Given the description of an element on the screen output the (x, y) to click on. 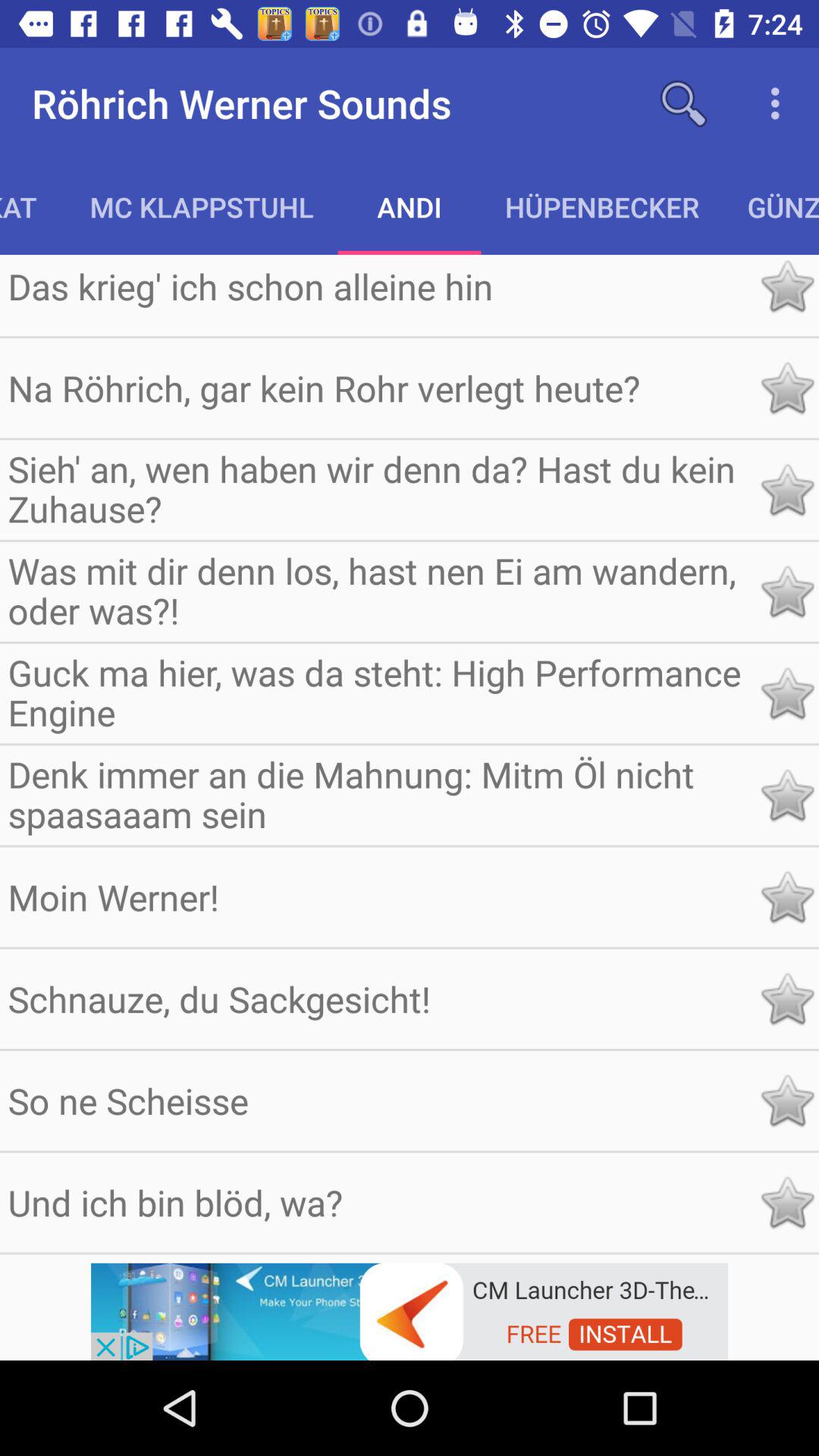
add to favorites (787, 896)
